Given the description of an element on the screen output the (x, y) to click on. 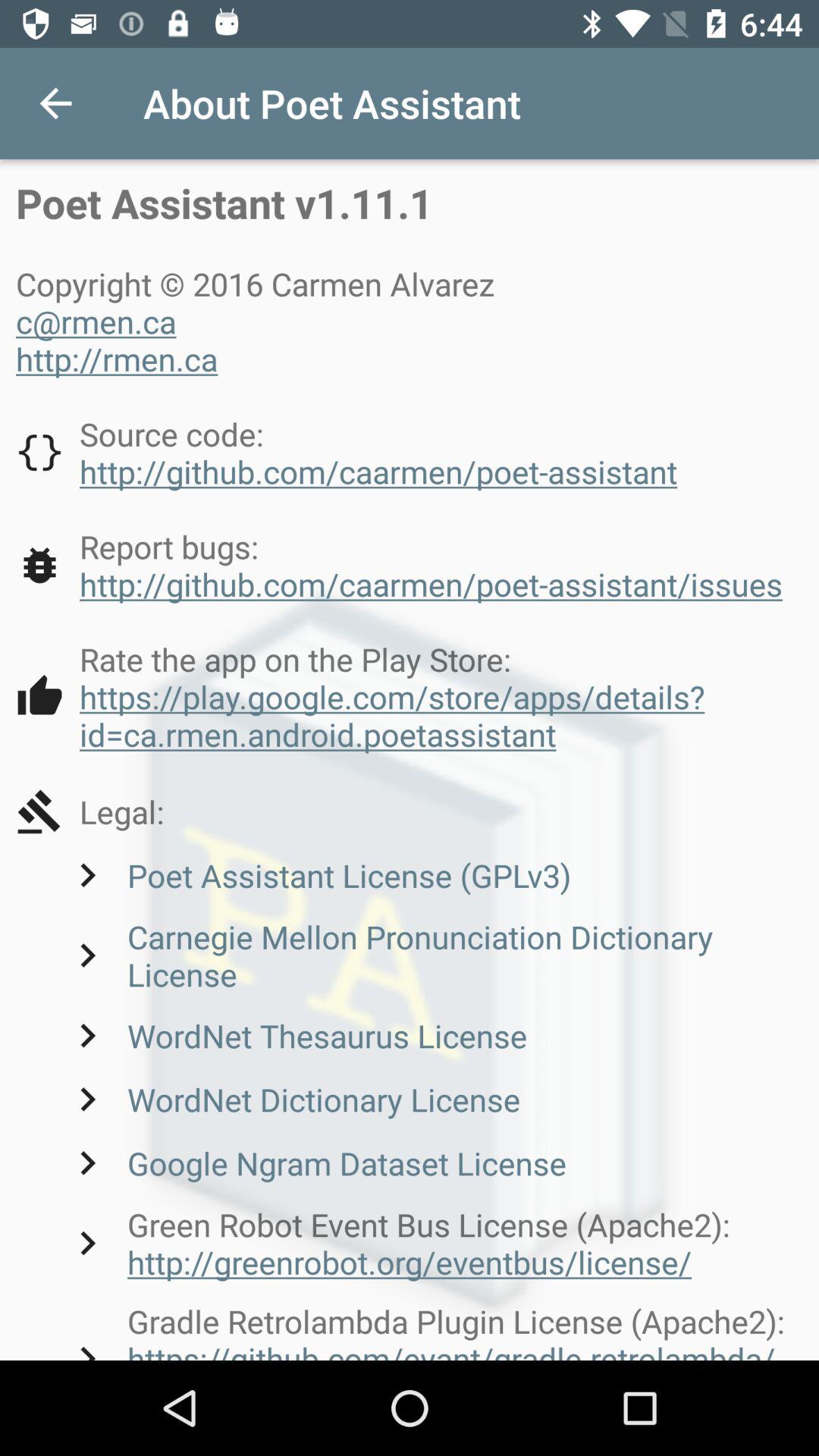
tap icon below copyright 2016 carmen icon (346, 452)
